Given the description of an element on the screen output the (x, y) to click on. 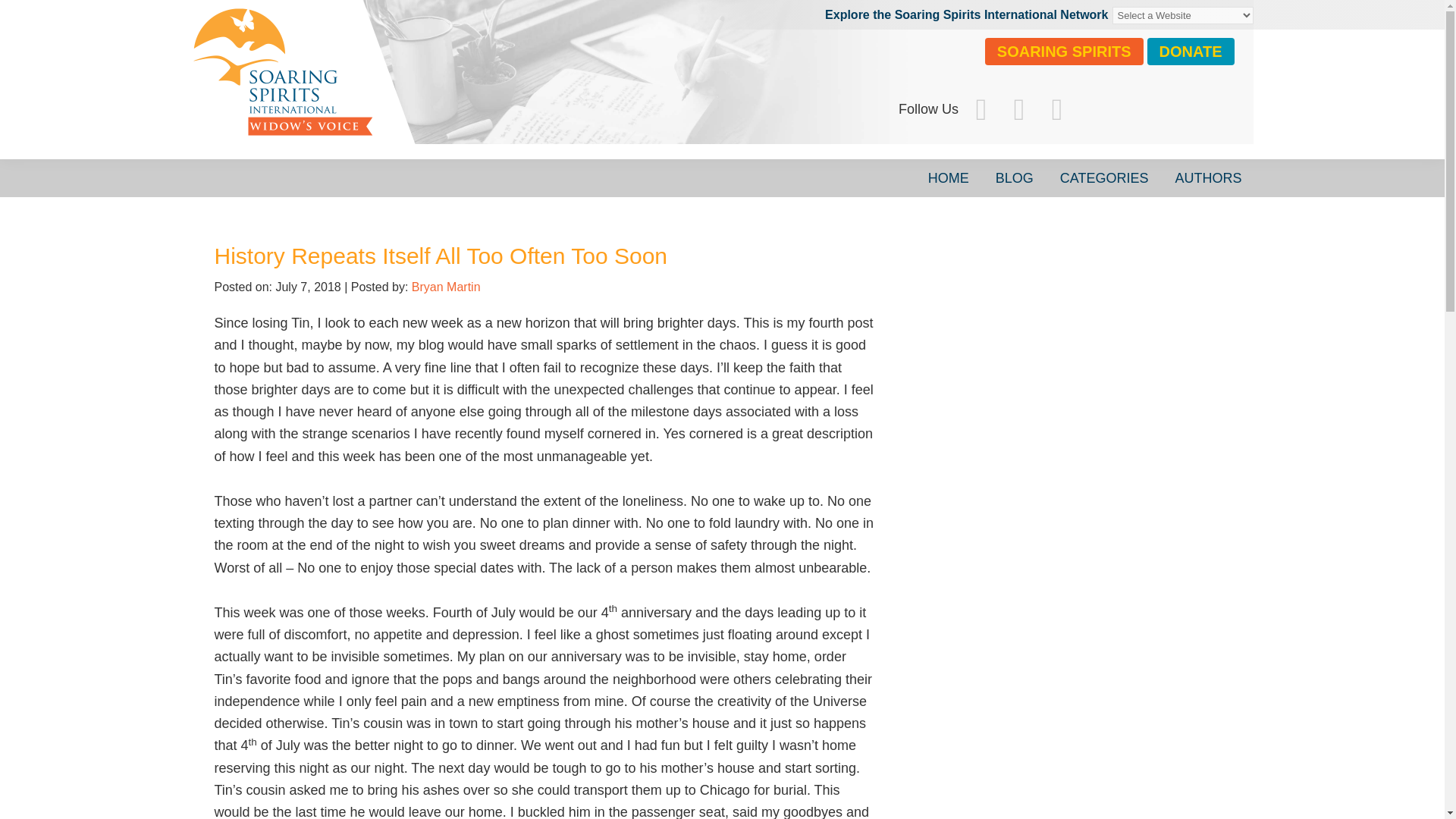
Instagram (1019, 109)
YouTube (1056, 109)
DONATE (1190, 51)
Widow's Voice (418, 87)
HOME (948, 177)
AUTHORS (1207, 177)
Homepage (418, 87)
SOARING SPIRITS (1063, 51)
Facebook (981, 109)
